Given the description of an element on the screen output the (x, y) to click on. 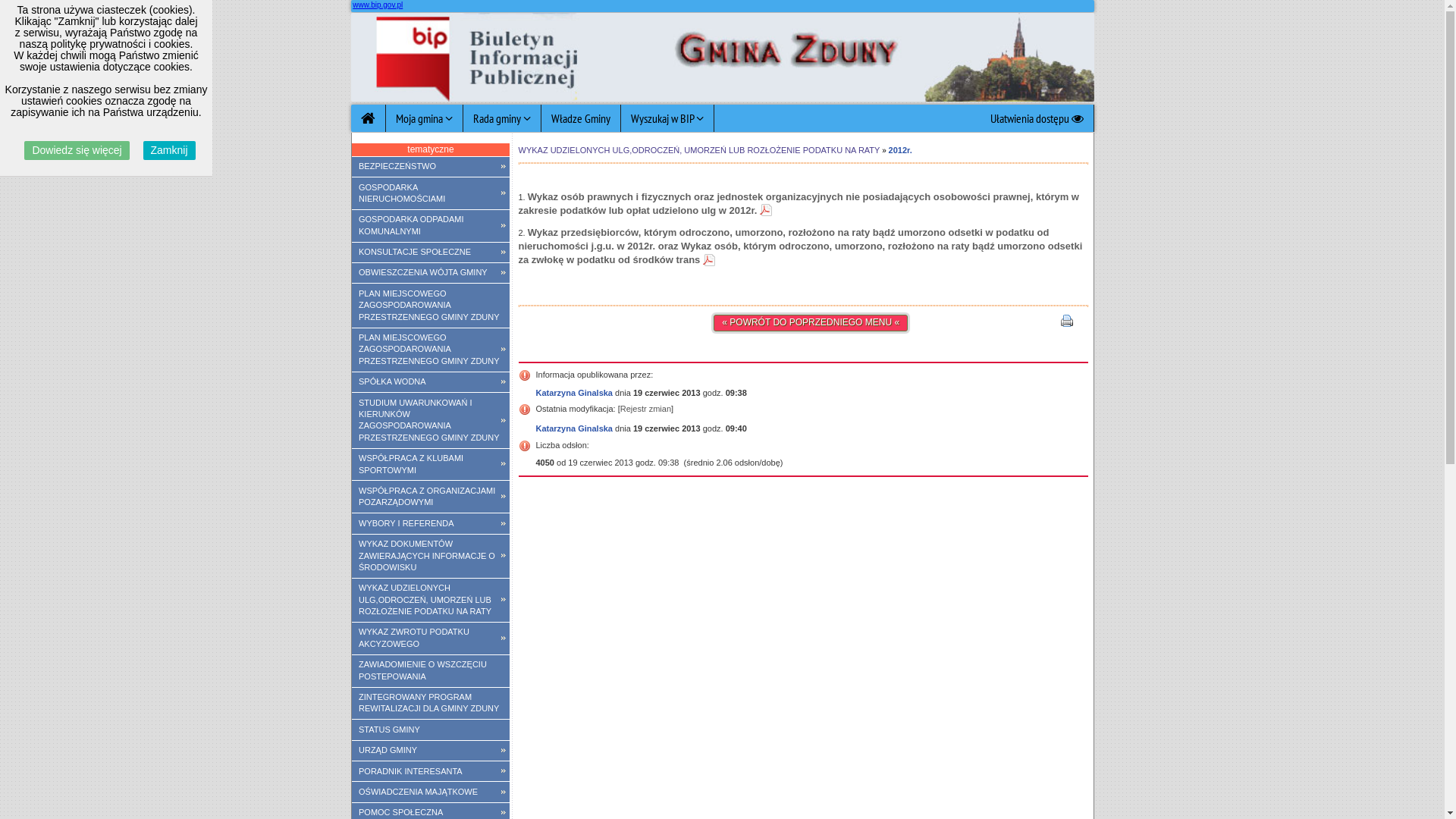
GOSPODARKA ODPADAMI KOMUNALNYMI Element type: text (430, 225)
Katarzyna Ginalska Element type: text (573, 392)
WYKAZ ZWROTU PODATKU AKCYZOWEGO Element type: text (430, 638)
Wyszukaj w BIP Element type: text (666, 117)
2012r. Element type: text (900, 149)
PLAN MIEJSCOWEGO ZAGOSPODAROWANIA PRZESTRZENNEGO GMINY ZDUNY Element type: text (430, 349)
Rejestr zmian Element type: text (645, 408)
STATUS GMINY Element type: text (430, 729)
Wyszukaj Element type: text (722, 181)
Rada gminy Element type: text (501, 117)
www.bip.gov.pl Element type: text (377, 4)
WYBORY I REFERENDA Element type: text (430, 523)
Moja gmina Element type: text (423, 117)
ZINTEGROWANY PROGRAM REWITALIZACJI DLA GMINY ZDUNY Element type: text (430, 703)
PLAN MIEJSCOWEGO ZAGOSPODAROWANIA PRZESTRZENNEGO GMINY ZDUNY Element type: text (430, 304)
PORADNIK INTERESANTA Element type: text (430, 771)
Zamknij Element type: text (169, 150)
Katarzyna Ginalska Element type: text (573, 428)
